Given the description of an element on the screen output the (x, y) to click on. 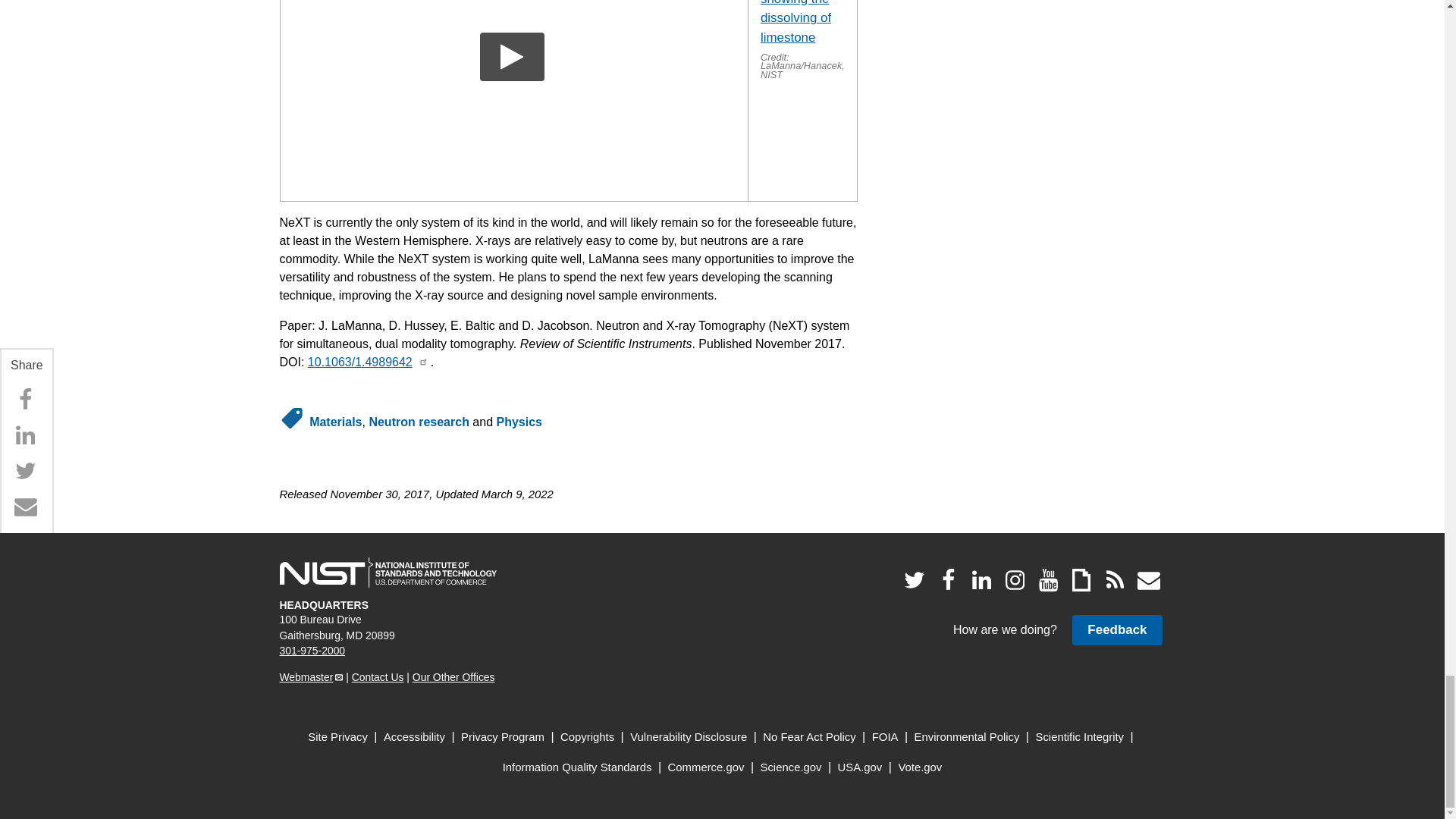
National Institute of Standards and Technology (387, 572)
Provide feedback (1116, 629)
Materials (334, 421)
